Given the description of an element on the screen output the (x, y) to click on. 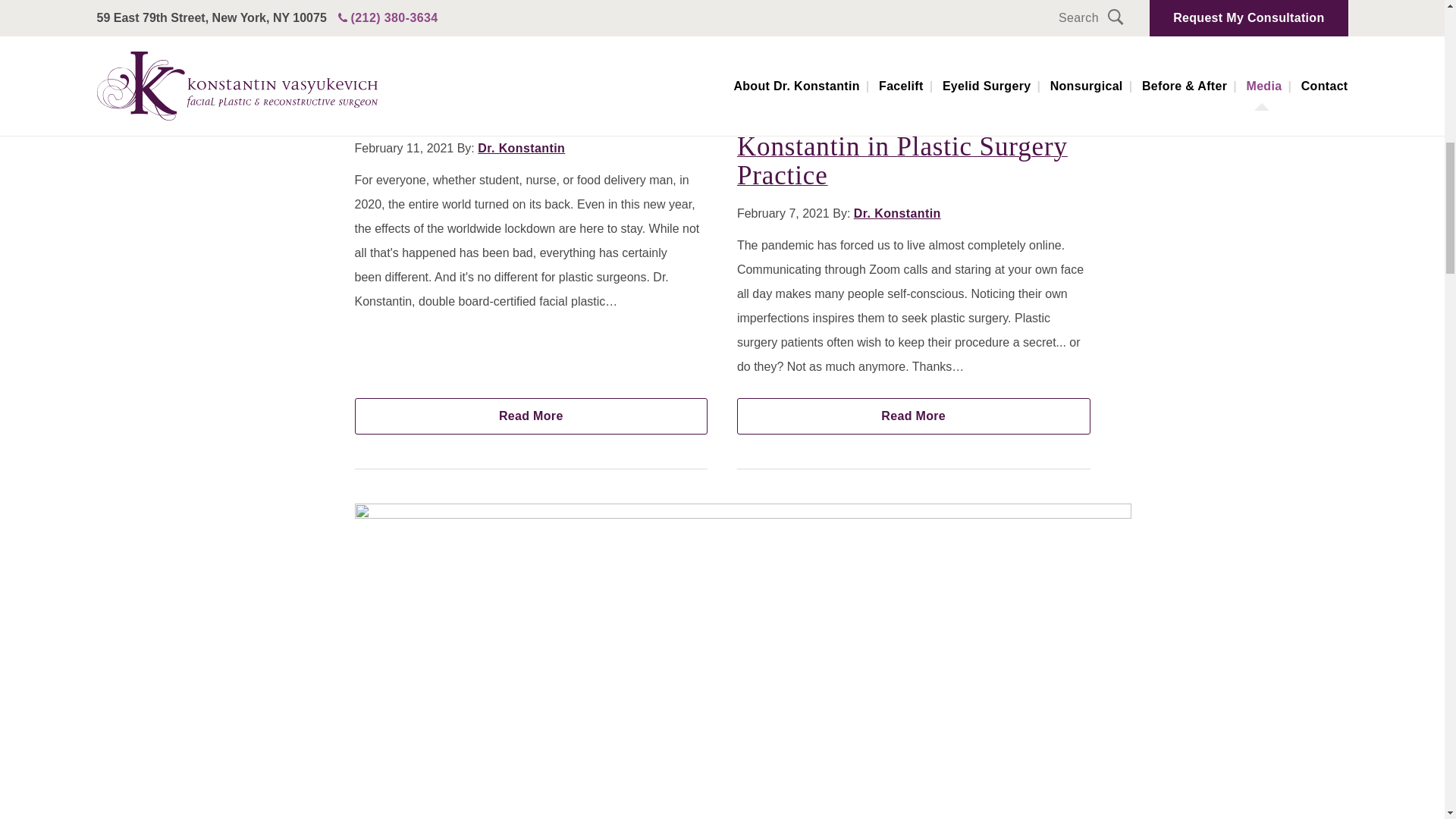
View all posts by Dr. Konstantin (520, 147)
View all posts by Dr. Konstantin (896, 213)
